Given the description of an element on the screen output the (x, y) to click on. 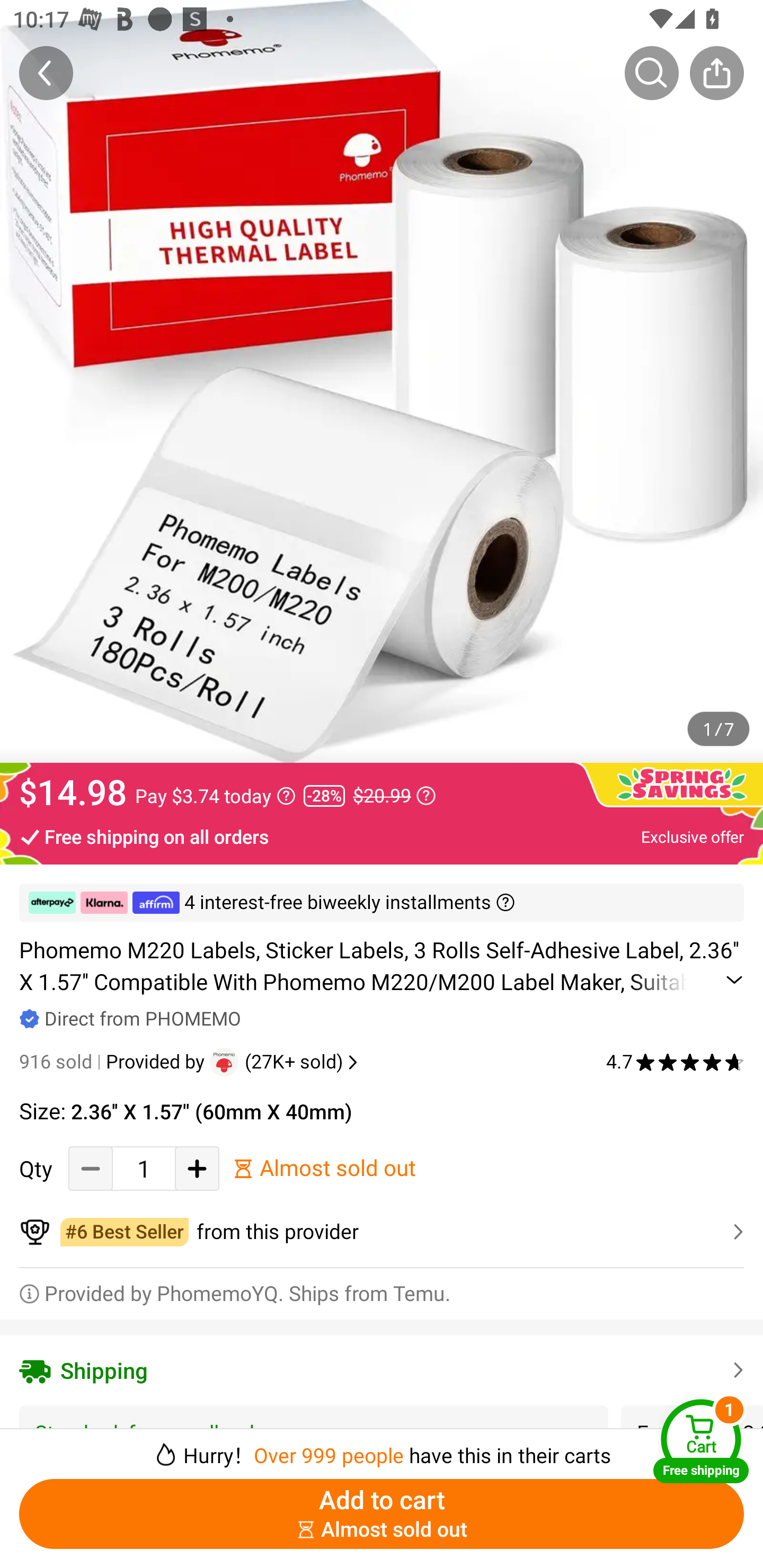
Back (46, 72)
Share (716, 72)
Pay $3.74 today   (215, 795)
Free shipping on all orders Exclusive offer (381, 836)
￼ ￼ ￼ 4 interest-free biweekly installments ￼ (381, 902)
4.7 (674, 1061)
Decrease Quantity Button (90, 1168)
1 (143, 1168)
Add Quantity button (196, 1168)
￼￼from this provider (381, 1231)
Shipping (381, 1369)
Cart Free shipping Cart (701, 1440)
￼￼Hurry！Over 999 people have this in their carts (381, 1448)
Add to cart ￼￼Almost sold out (381, 1513)
